Given the description of an element on the screen output the (x, y) to click on. 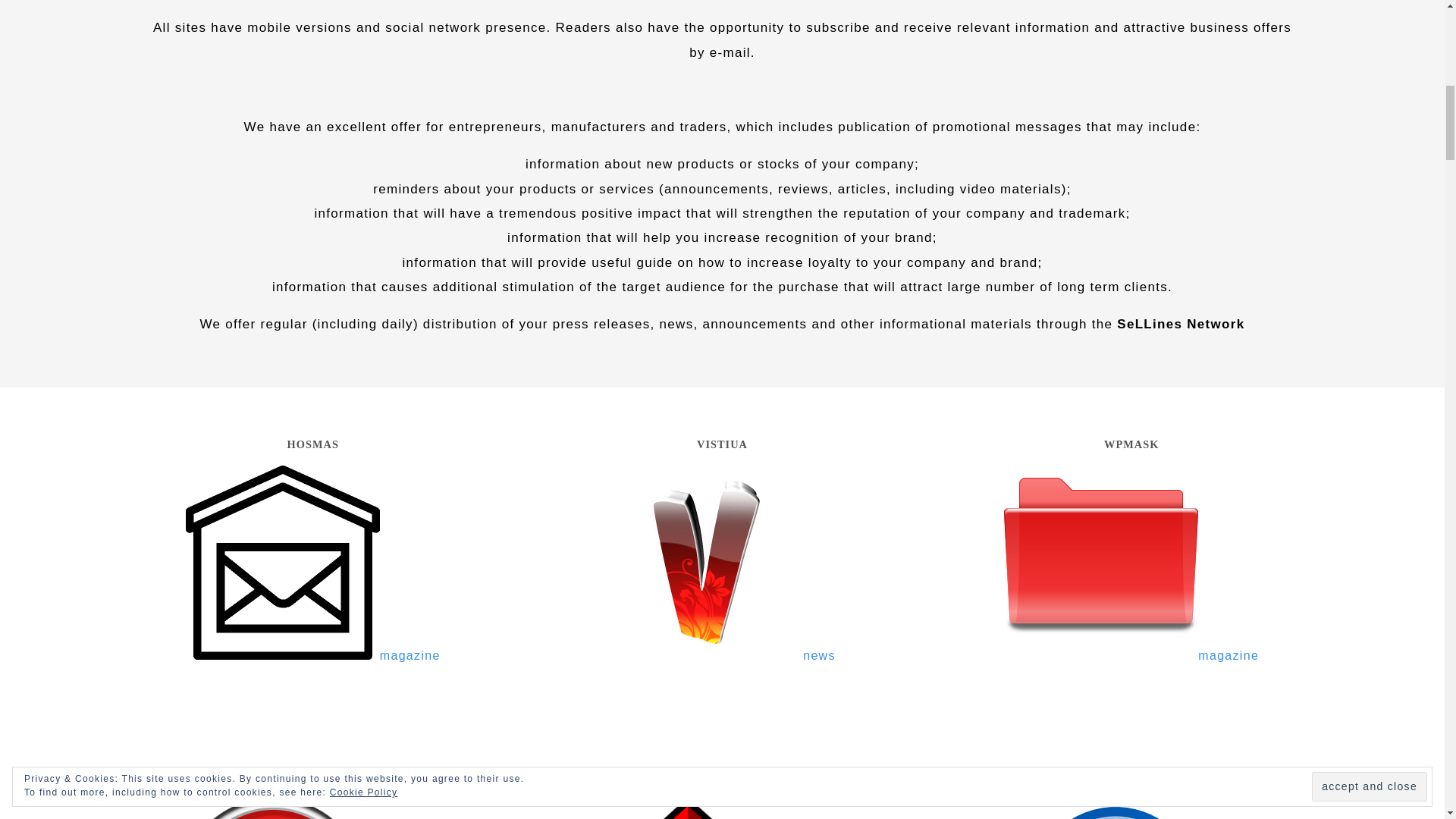
news (721, 655)
magazine (313, 655)
magazine (1131, 655)
